Given the description of an element on the screen output the (x, y) to click on. 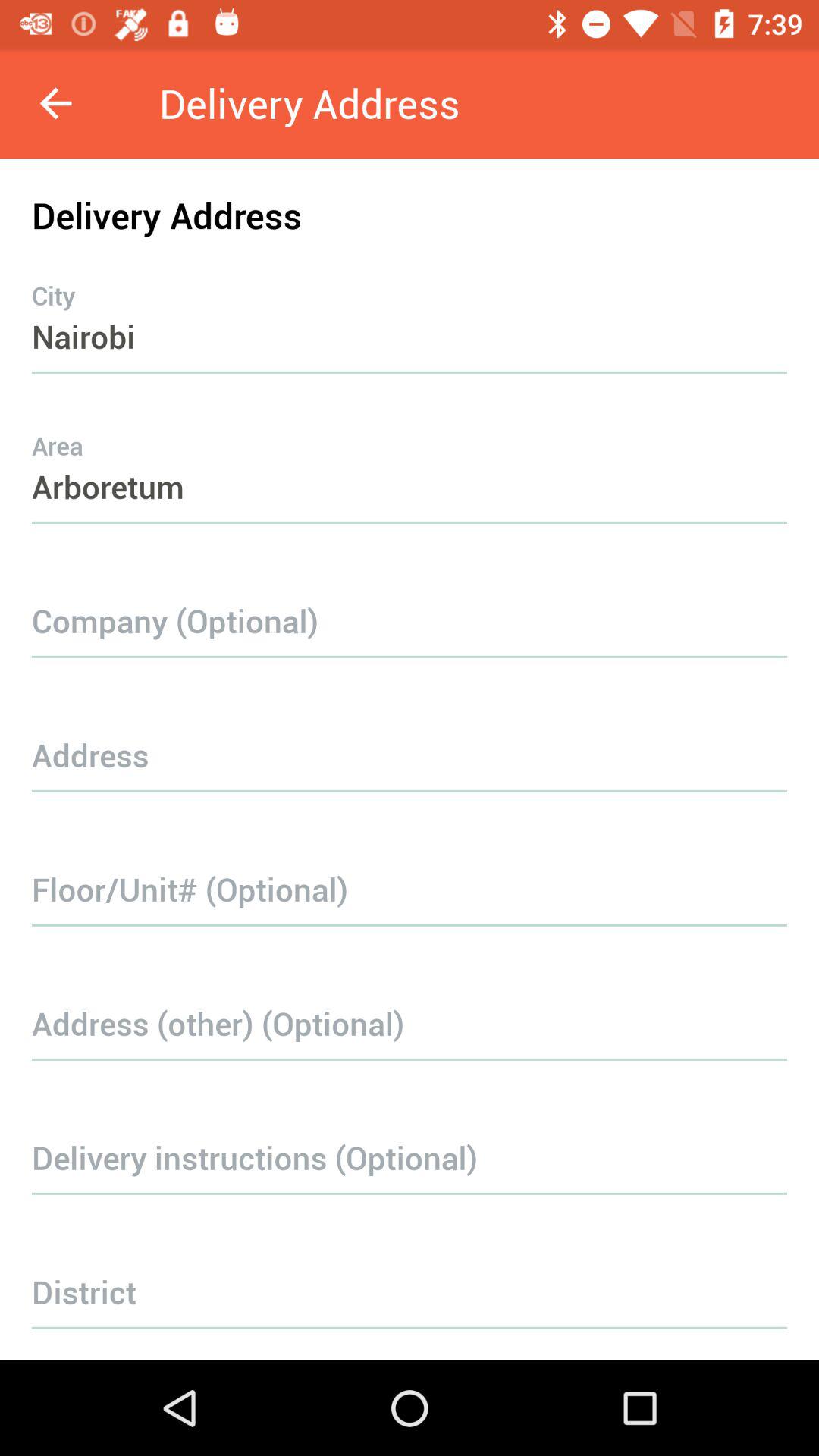
press item above the arboretum icon (409, 306)
